Given the description of an element on the screen output the (x, y) to click on. 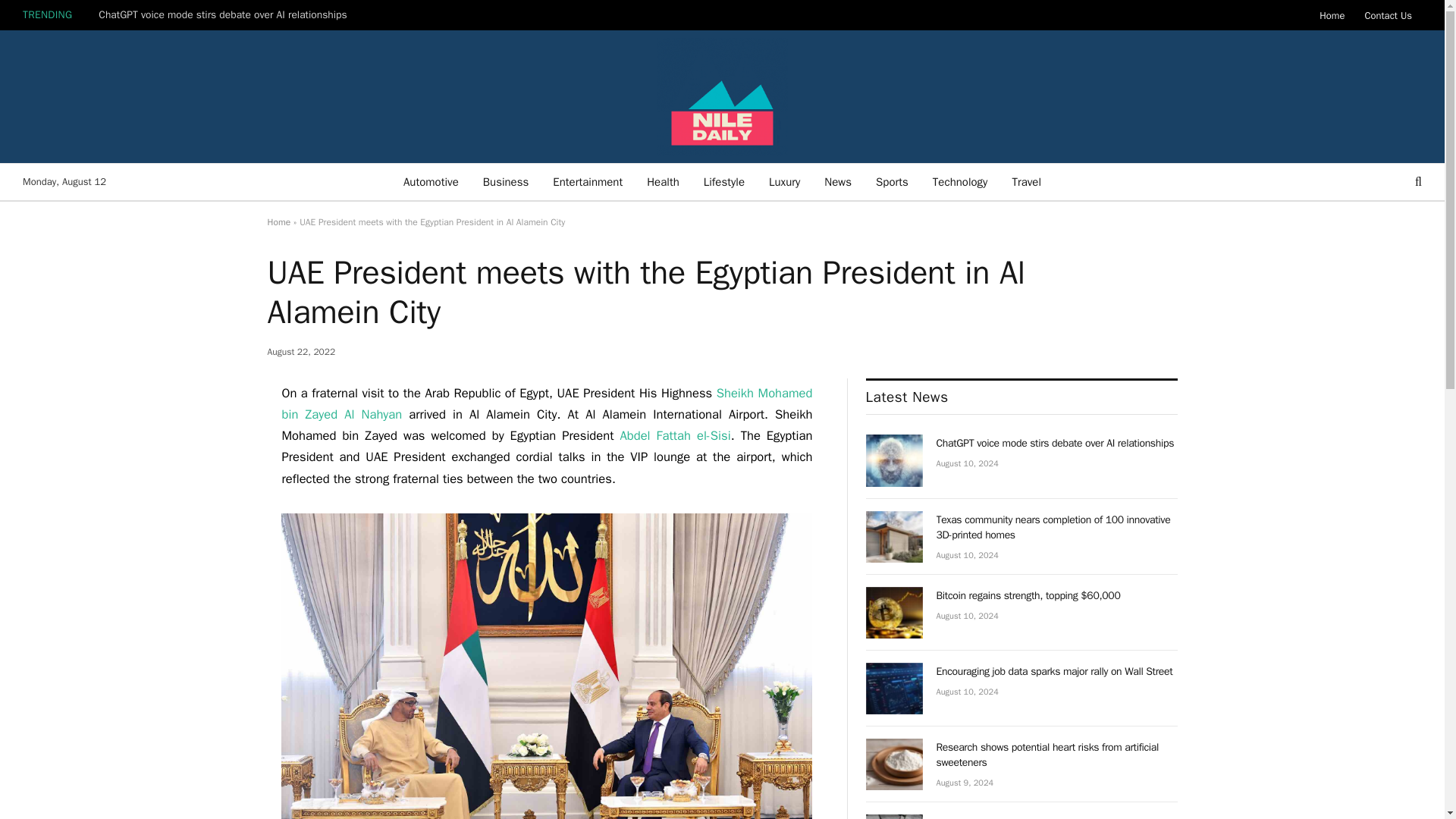
Sheikh Mohamed bin Zayed Al Nahyan (546, 403)
Luxury (784, 181)
Lifestyle (724, 181)
Nile Daily (722, 96)
News (837, 181)
Home (1331, 15)
ChatGPT voice mode stirs debate over AI relationships (894, 460)
Home (277, 222)
Contact Us (1388, 15)
Health (662, 181)
